Given the description of an element on the screen output the (x, y) to click on. 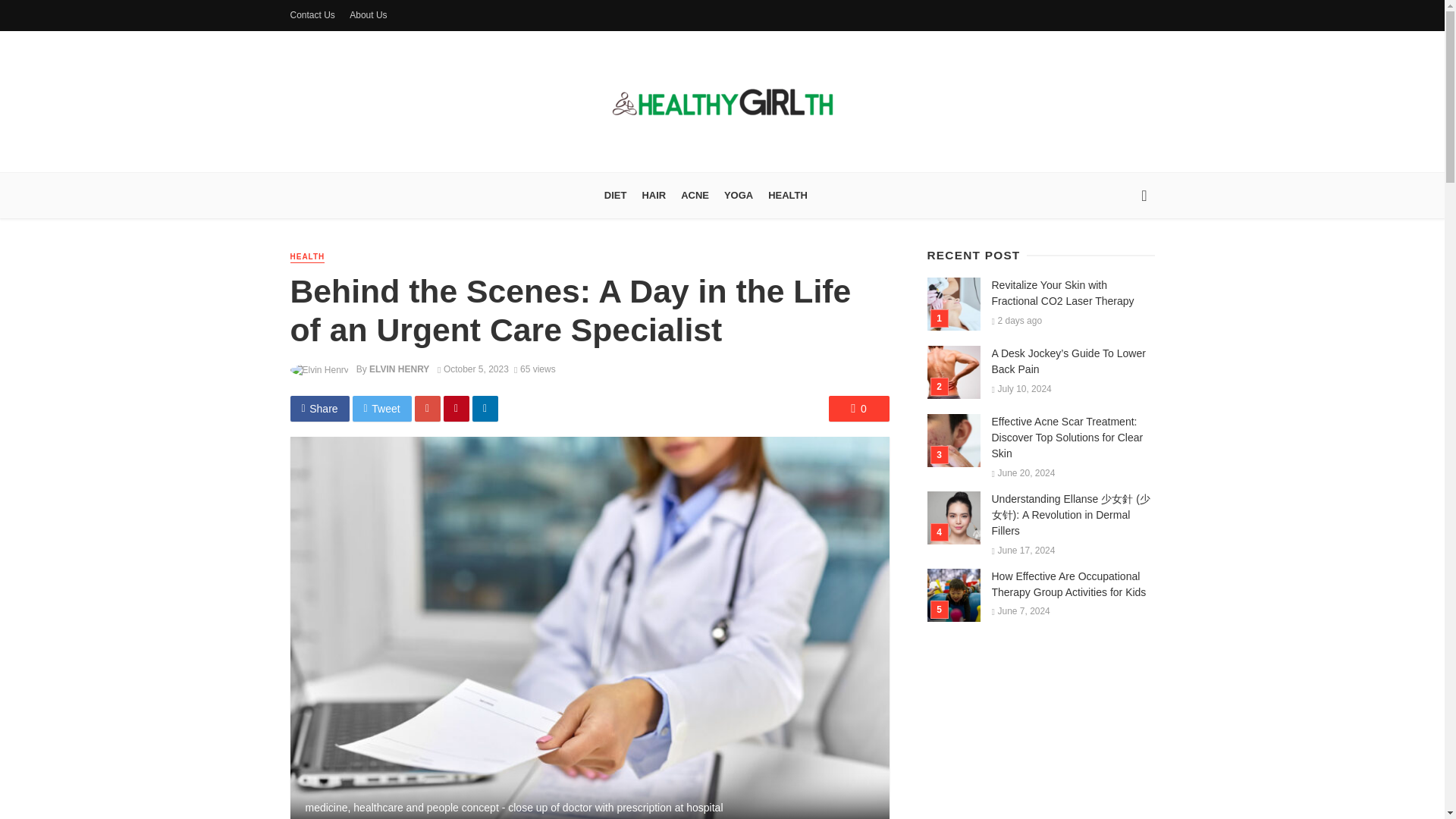
Posts by Elvin Henry (399, 368)
0 (858, 408)
Share (319, 408)
Tweet (382, 408)
ELVIN HENRY (399, 368)
YOGA (738, 195)
HEALTH (787, 195)
DIET (615, 195)
About Us (368, 14)
HAIR (652, 195)
HEALTH (306, 256)
October 5, 2023 at 7:30 pm (473, 368)
Contact Us (311, 14)
ACNE (694, 195)
